Given the description of an element on the screen output the (x, y) to click on. 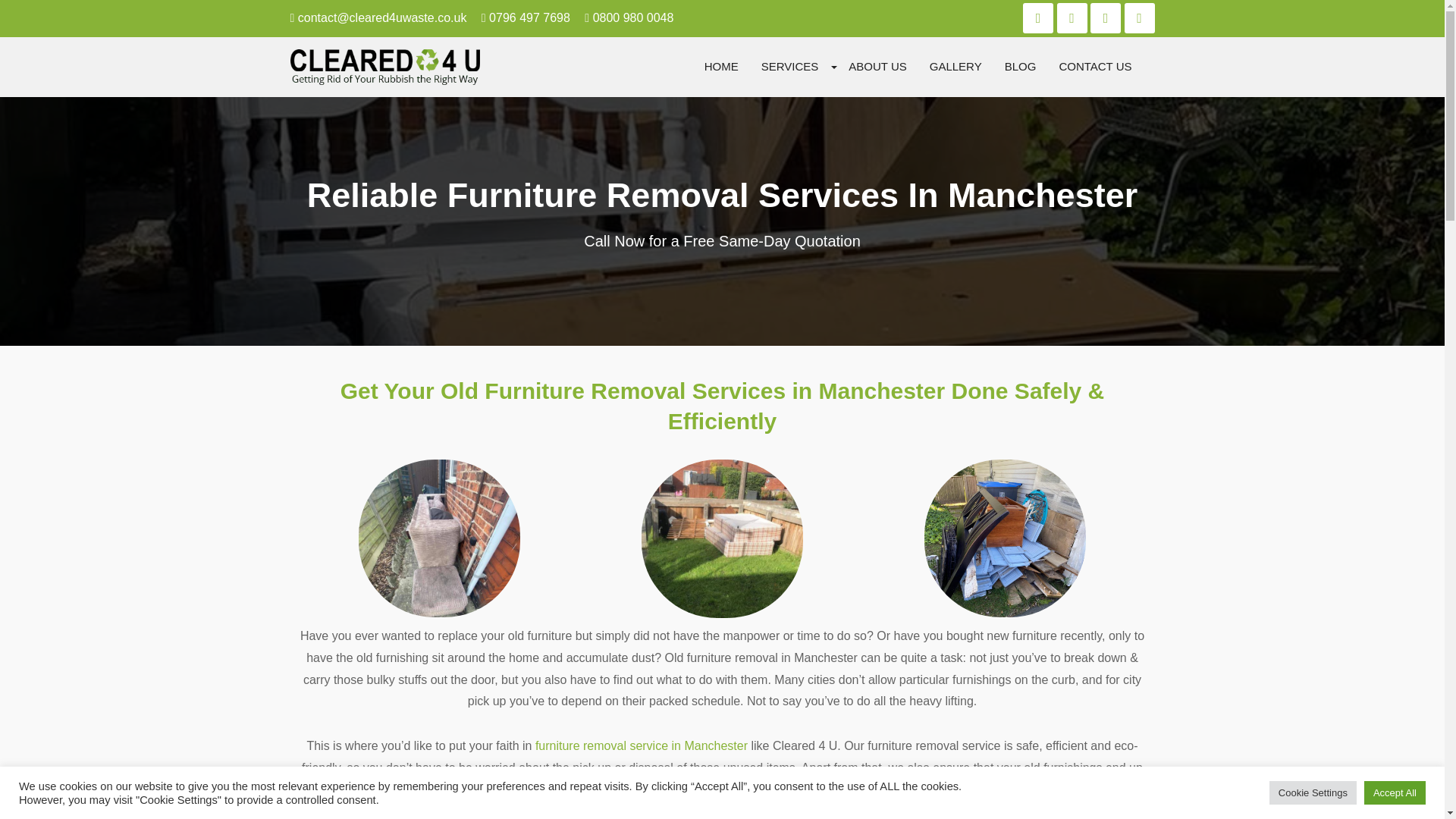
CONTACT US (1094, 66)
Furniture Removal Service in Manchester (641, 758)
Furniture Waste Removal 1 (438, 561)
Furniture Waste Removal 3 (1005, 554)
ABOUT US (877, 66)
0800 980 0048 (628, 17)
HOME (721, 66)
Furniture Waste Removal 2 (722, 558)
0796 497 7698 (525, 17)
BLOG (1020, 66)
GALLERY (955, 66)
SERVICES (789, 66)
